Given the description of an element on the screen output the (x, y) to click on. 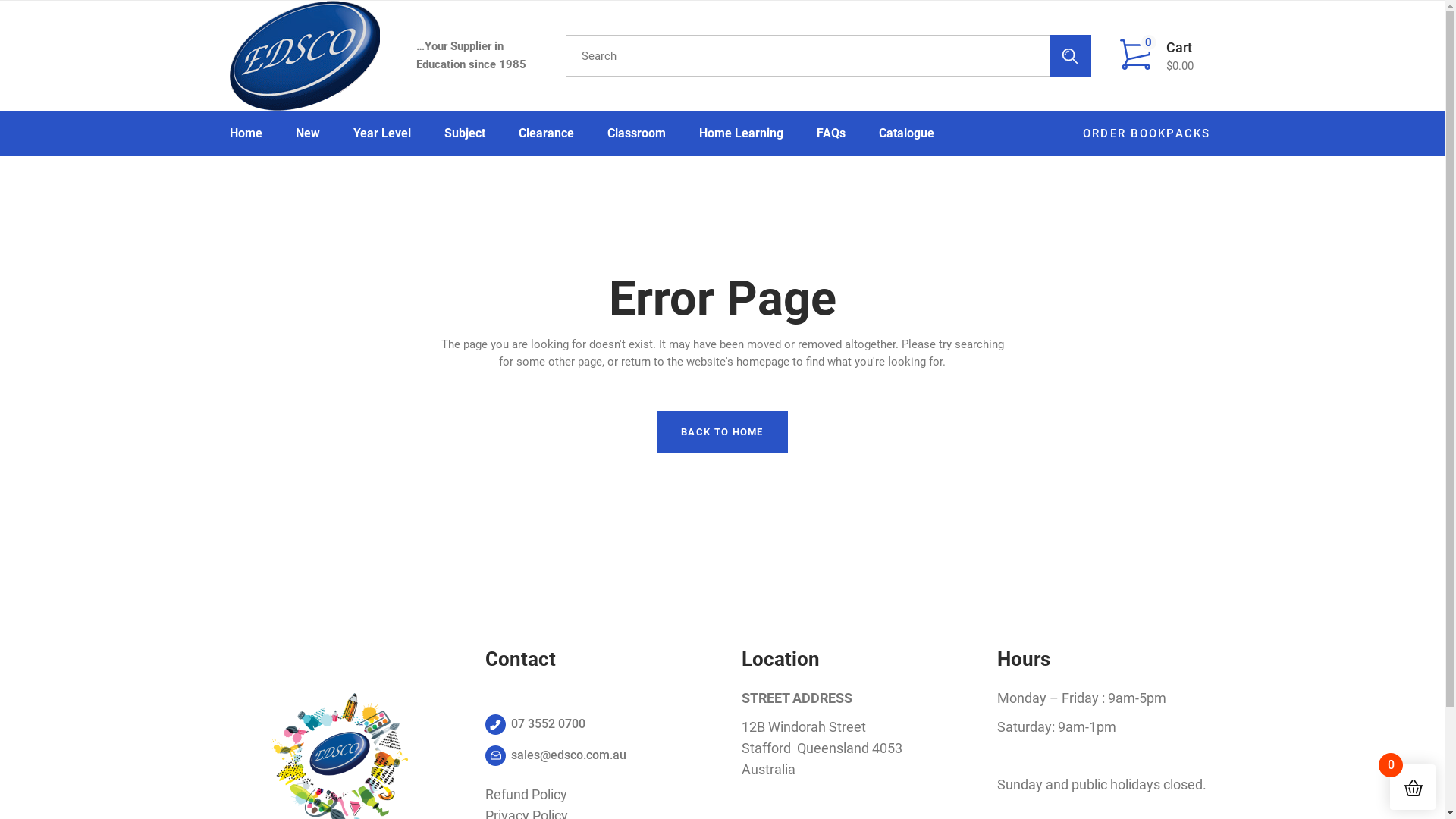
Home Learning Element type: text (741, 133)
BACK TO HOME Element type: text (721, 431)
Clearance Element type: text (546, 133)
Home Element type: text (245, 133)
New Element type: text (307, 133)
Subject Element type: text (464, 133)
Catalogue Element type: text (905, 133)
FAQs Element type: text (829, 133)
sales@edsco.com.au Element type: text (555, 755)
07 3552 0700 Element type: text (535, 724)
ORDER BOOKPACKS Element type: text (1146, 132)
0
Cart
$0.00 Element type: text (1161, 55)
Year Level Element type: text (382, 133)
Refund Policy Element type: text (526, 794)
Classroom Element type: text (635, 133)
